Given the description of an element on the screen output the (x, y) to click on. 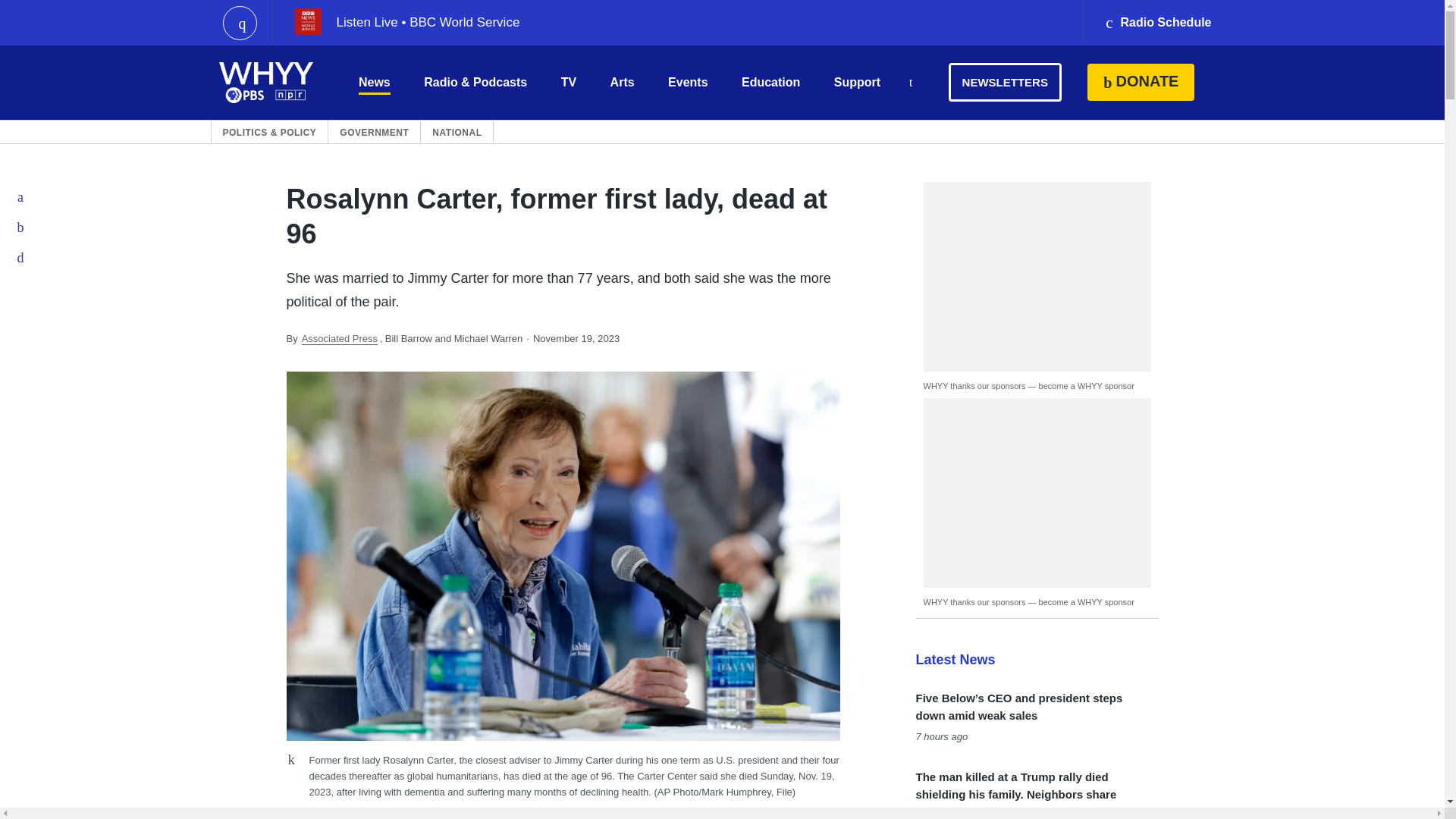
TV (568, 81)
GOVERNMENT (374, 132)
Search (910, 83)
Radio Schedule (1157, 22)
NATIONAL (456, 132)
Education (770, 81)
Arts (622, 81)
Email (21, 257)
WHYY (266, 82)
Facebook (21, 196)
Support (857, 81)
Twitter (21, 227)
News (374, 81)
